Given the description of an element on the screen output the (x, y) to click on. 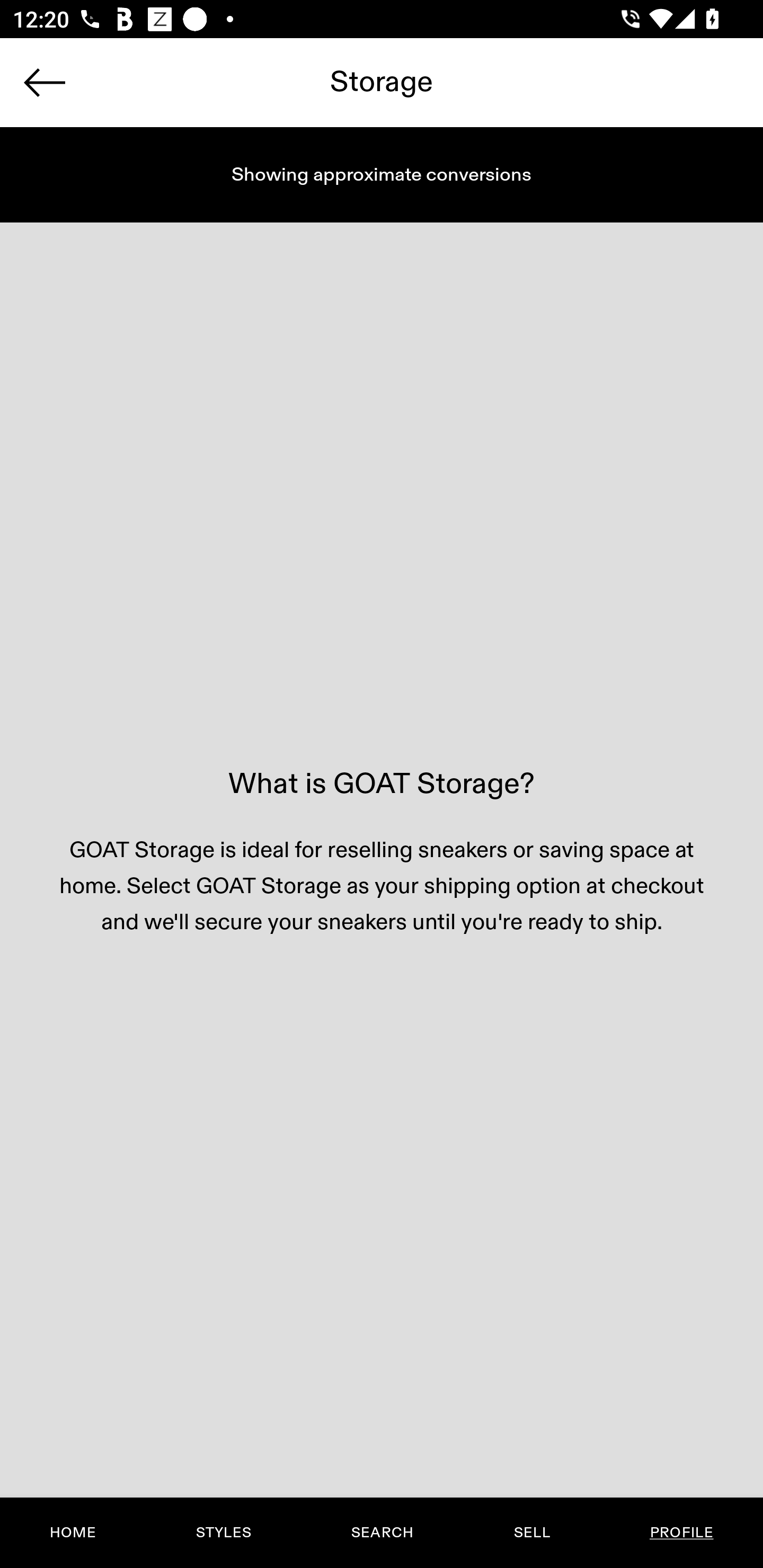
HOME (72, 1532)
STYLES (222, 1532)
SEARCH (381, 1532)
SELL (531, 1532)
PROFILE (681, 1532)
